Given the description of an element on the screen output the (x, y) to click on. 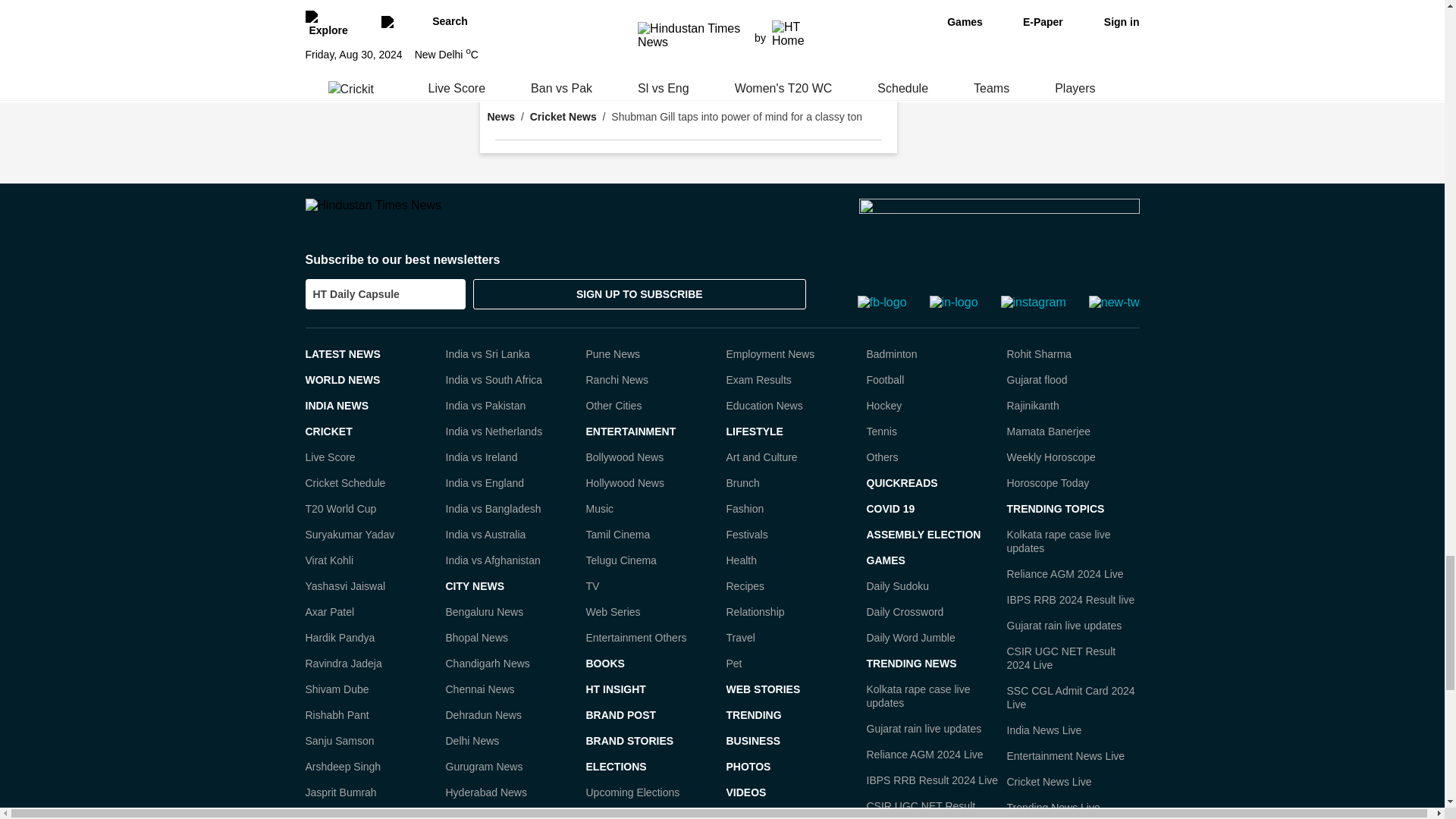
cricket schedule (609, 30)
cricket team (684, 11)
ICC rankings (640, 4)
Virat Kohli (848, 16)
Rohit Sharma (756, 16)
Crickit (622, 43)
